Given the description of an element on the screen output the (x, y) to click on. 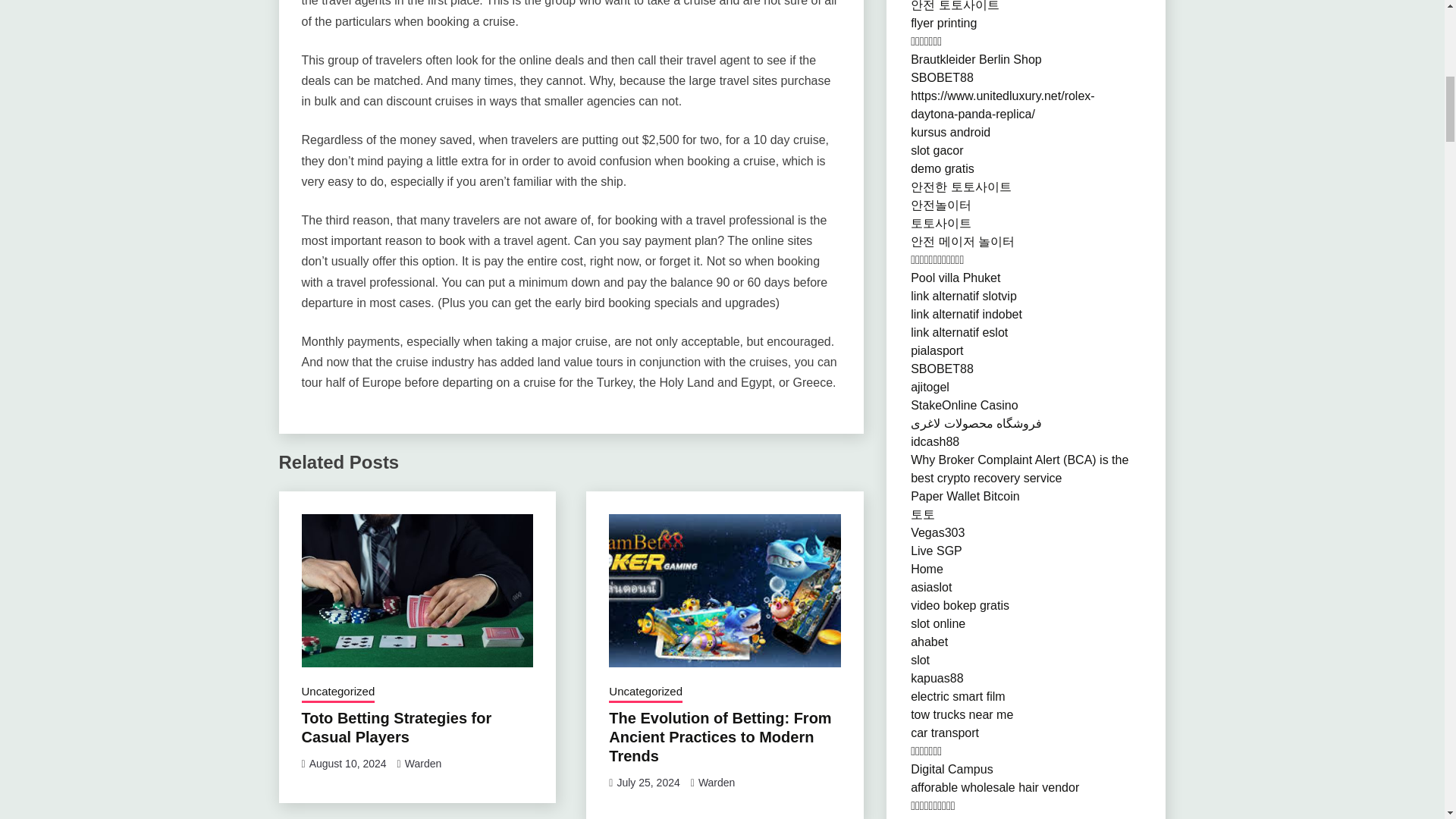
August 10, 2024 (347, 763)
Toto Betting Strategies for Casual Players (396, 727)
Uncategorized (338, 692)
Warden (716, 782)
Warden (423, 763)
July 25, 2024 (647, 782)
Uncategorized (645, 692)
